Given the description of an element on the screen output the (x, y) to click on. 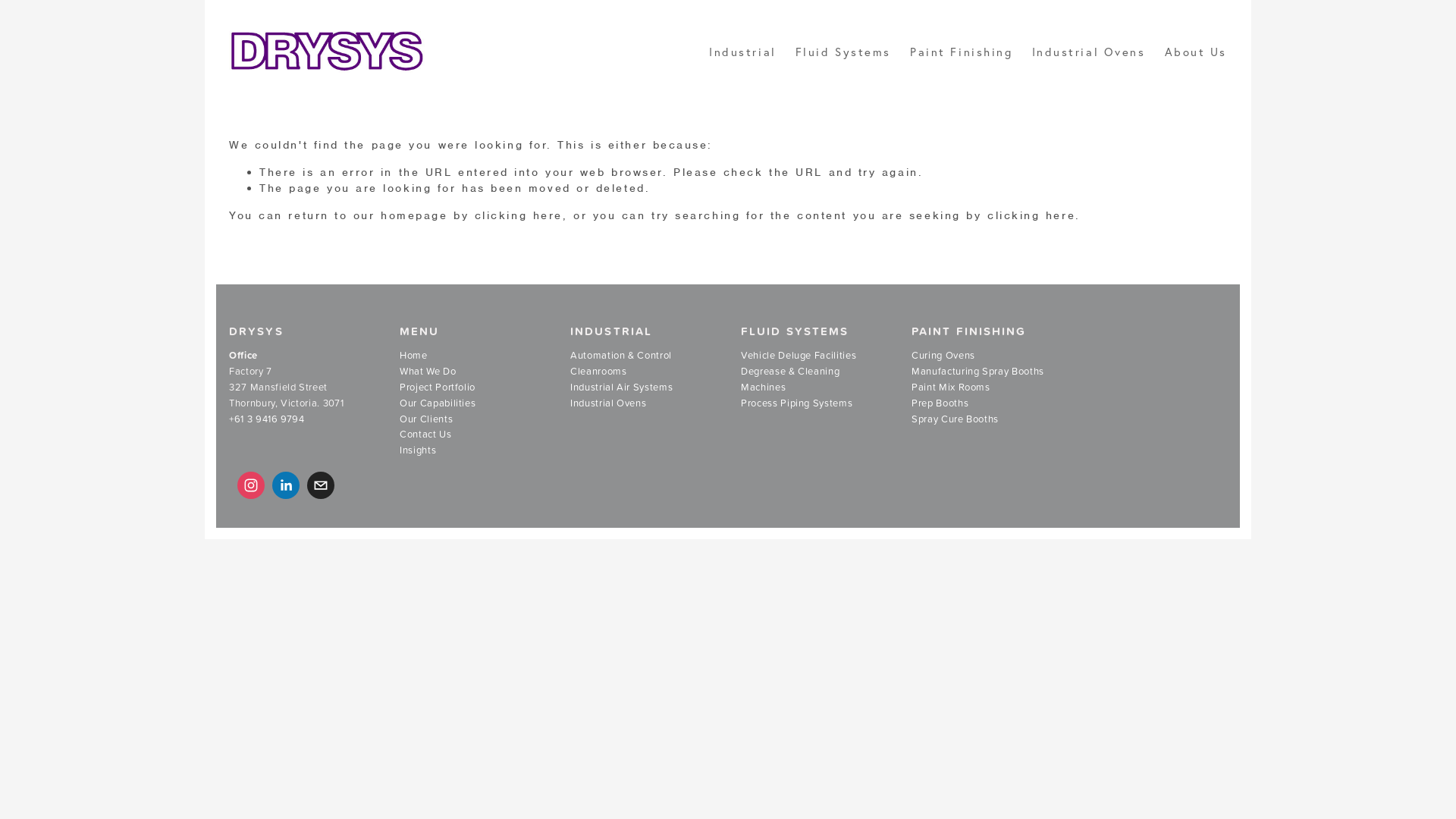
Prep Booths Element type: text (939, 403)
Process Piping Systems Element type: text (796, 403)
Manufacturing Spray Booths Element type: text (977, 371)
About Us Element type: text (1195, 51)
Industrial Air Systems Element type: text (621, 387)
Degrease & Cleaning Machines Element type: text (791, 379)
Curing Ovens Element type: text (943, 355)
Fluid Systems Element type: text (843, 51)
Spray Cure Booths Element type: text (954, 418)
clicking here Element type: text (518, 215)
Home Element type: text (413, 355)
Project Portfolio Element type: text (437, 387)
Automation & Control Element type: text (620, 355)
clicking here Element type: text (1031, 215)
Paint Mix Rooms Element type: text (950, 387)
INDUSTRIAL Element type: text (611, 331)
Contact Us Element type: text (425, 434)
Insights Element type: text (417, 450)
Our Clients Element type: text (425, 418)
PAINT FINISHING Element type: text (968, 331)
Cleanrooms Element type: text (598, 371)
Industrial Ovens Element type: text (1088, 51)
FLUID SYSTEMS Element type: text (794, 331)
Vehicle Deluge Facilities Element type: text (798, 355)
Paint Finishing Element type: text (961, 51)
Industrial Ovens Element type: text (608, 403)
What We Do Element type: text (427, 371)
Industrial Element type: text (742, 51)
+61 3 9416 9794 Element type: text (266, 418)
Our Capabilities Element type: text (437, 403)
